Given the description of an element on the screen output the (x, y) to click on. 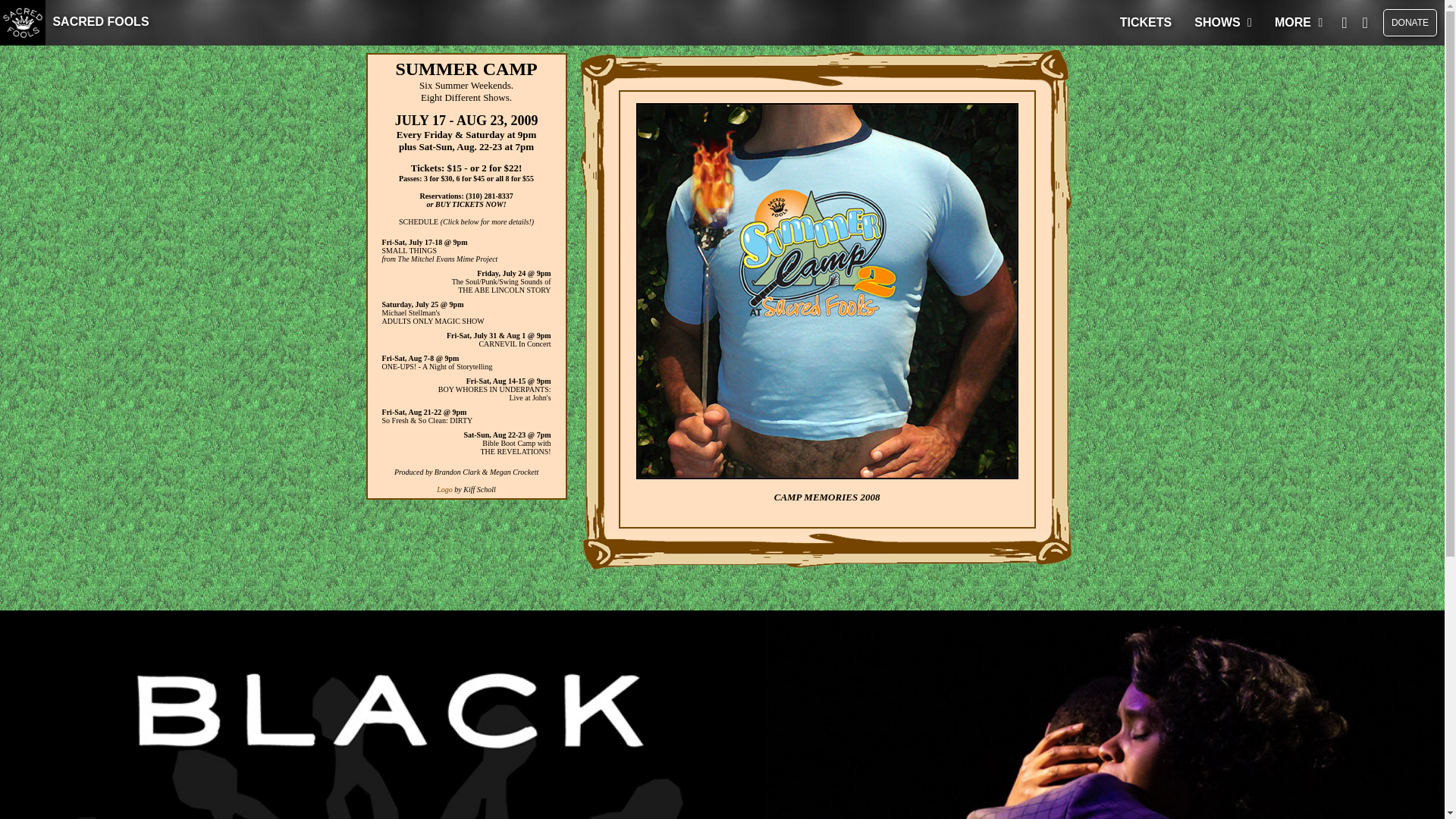
TICKETS (1145, 22)
MORE (1298, 22)
Logo (444, 489)
SHOWS (1222, 22)
BUY TICKETS NOW! (470, 203)
SUMMER CAMP (465, 68)
DONATE (1410, 22)
SACRED FOOLS (74, 21)
CAMP MEMORIES 2008 (827, 495)
